Given the description of an element on the screen output the (x, y) to click on. 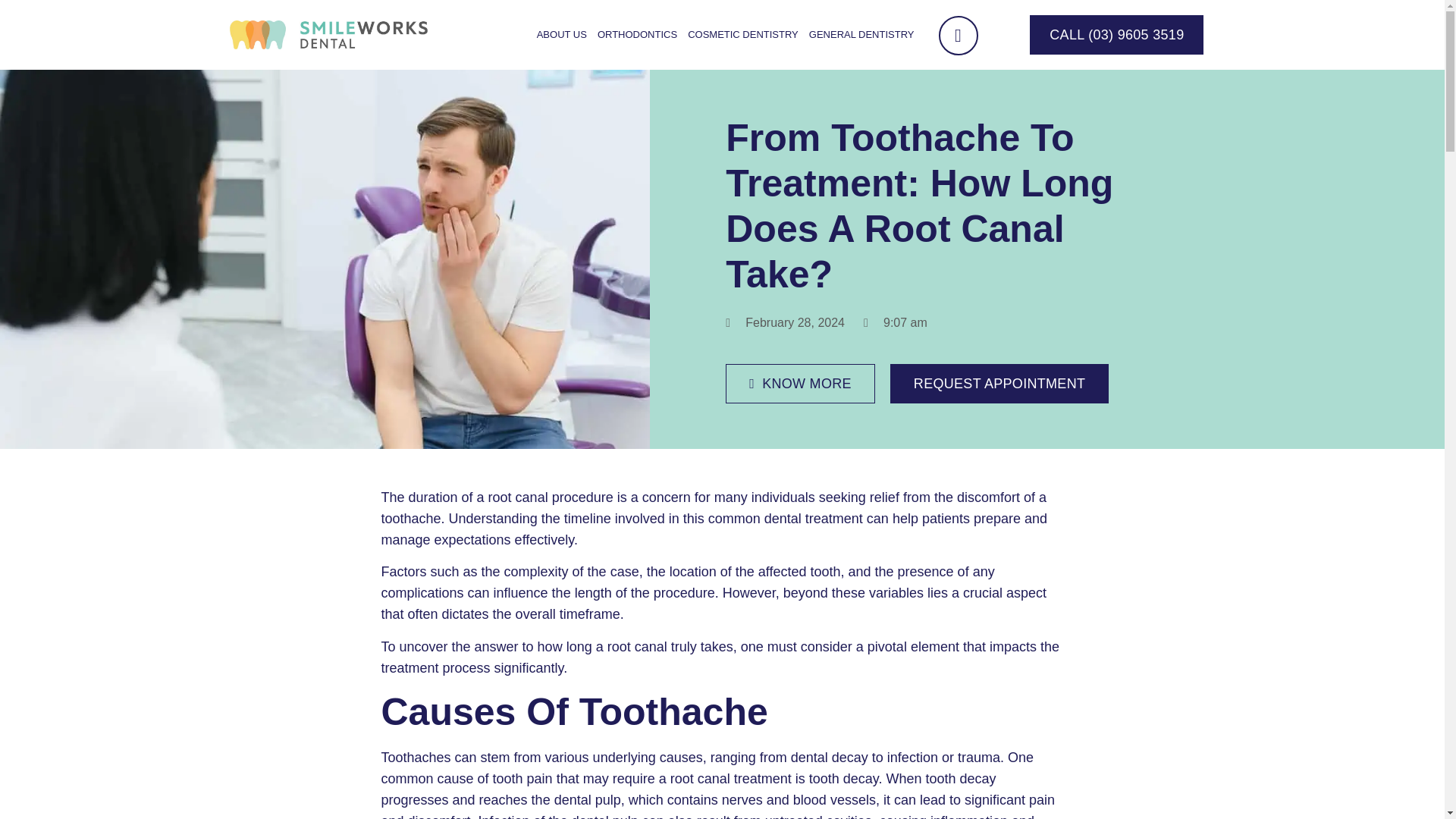
ABOUT US (561, 34)
COSMETIC DENTISTRY (742, 34)
ORTHODONTICS (637, 34)
GENERAL DENTISTRY (861, 34)
